Given the description of an element on the screen output the (x, y) to click on. 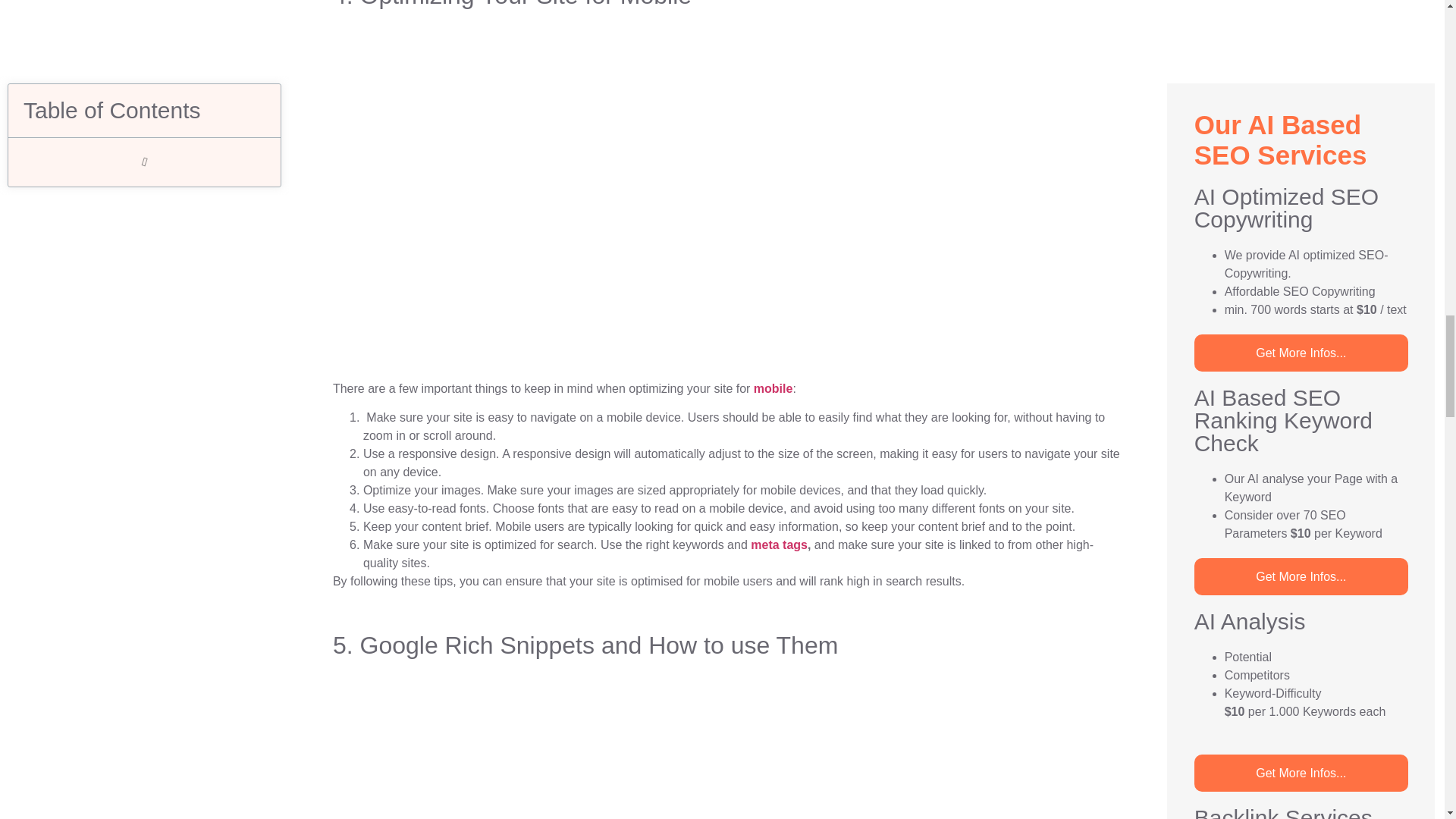
meta tags (779, 544)
mobile (773, 388)
